Given the description of an element on the screen output the (x, y) to click on. 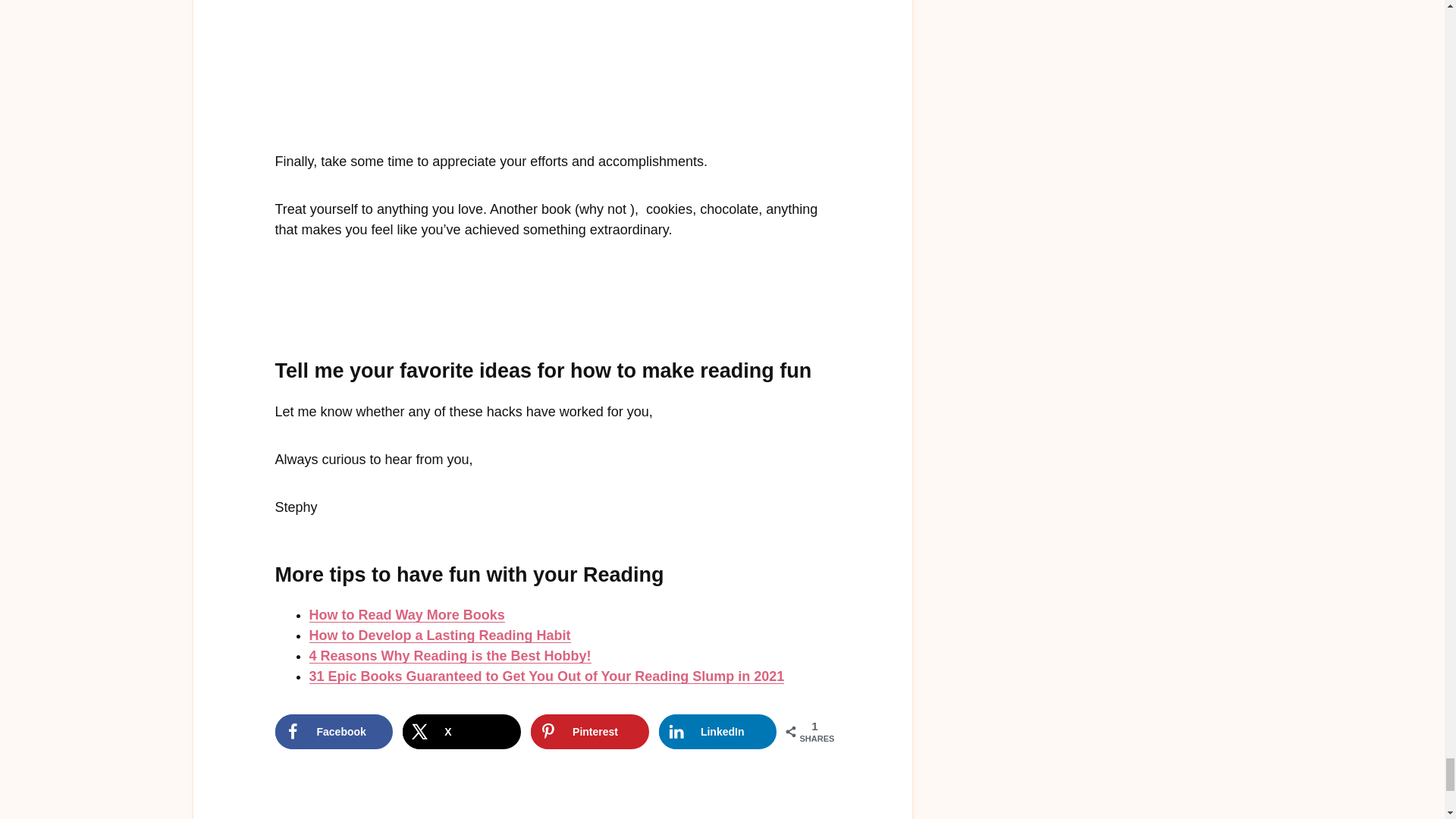
Share on X (462, 731)
Share on Facebook (334, 731)
Save to Pinterest (590, 731)
Share on LinkedIn (718, 731)
